Given the description of an element on the screen output the (x, y) to click on. 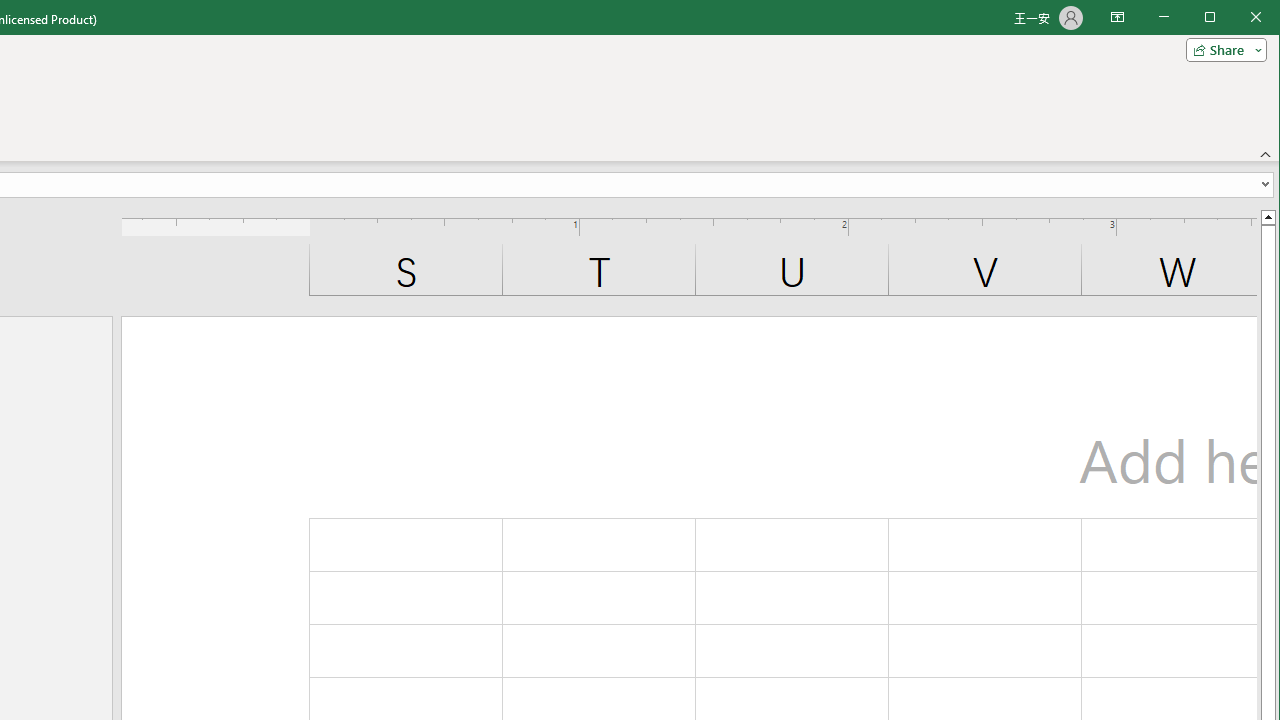
Close (1261, 18)
Minimize (1216, 18)
Collapse the Ribbon (1266, 154)
Ribbon Display Options (1117, 17)
Line up (1268, 216)
Maximize (1238, 18)
Share (1222, 49)
